Given the description of an element on the screen output the (x, y) to click on. 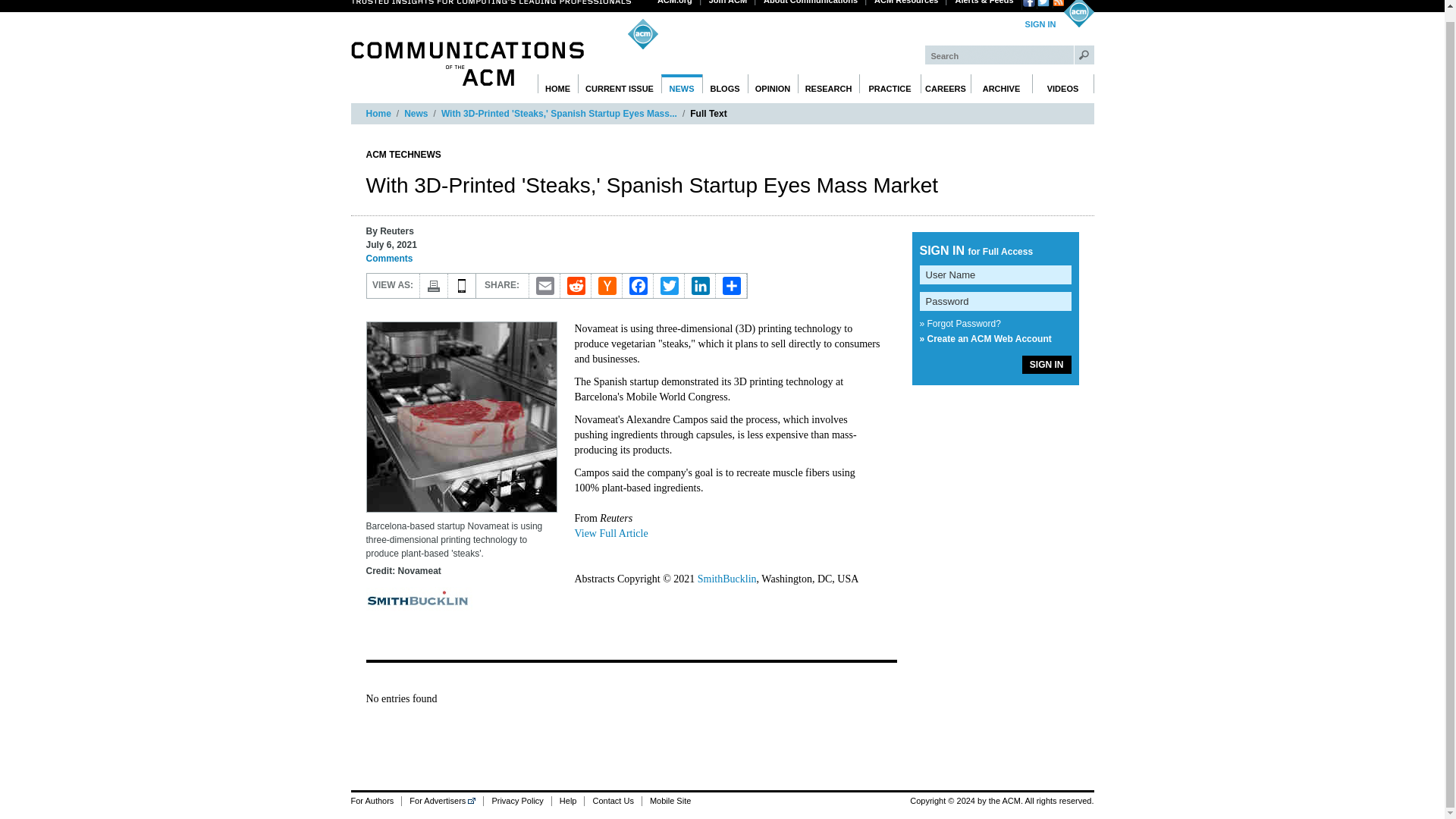
BLOGS (724, 83)
Privacy Policy (516, 800)
SIGN IN (1041, 24)
Contact Us (611, 800)
ACM.org (674, 2)
CAREERS (945, 83)
Communications of the ACM (466, 63)
Go (1084, 54)
Login (1041, 24)
ACM.org (674, 2)
